Given the description of an element on the screen output the (x, y) to click on. 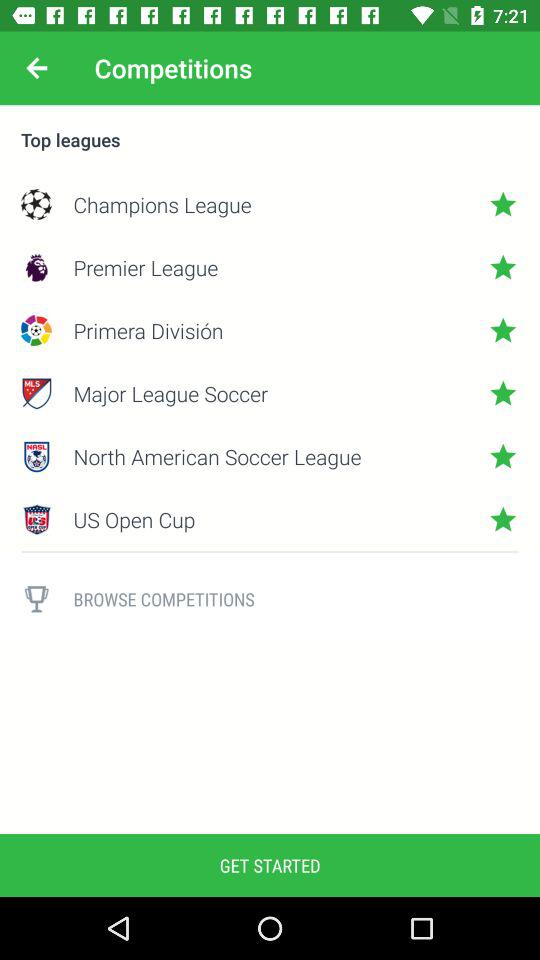
press icon to the left of the competitions icon (36, 68)
